Given the description of an element on the screen output the (x, y) to click on. 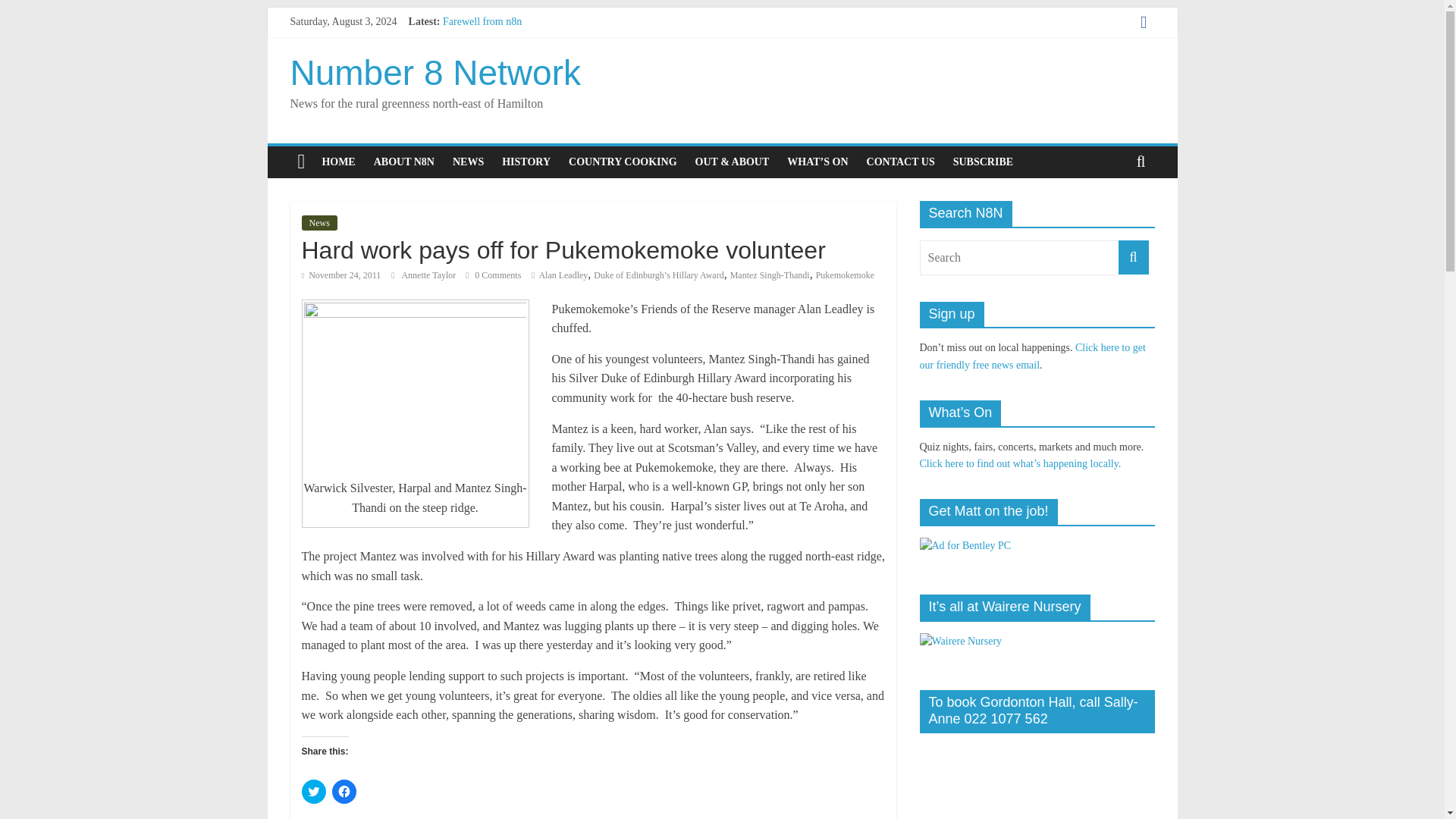
Alan Leadley (563, 275)
On password managers (491, 89)
Take me to the sign-up page (982, 162)
Annette Taylor (429, 275)
Mantez Singh-Thandi (769, 275)
HISTORY (526, 162)
N8N covering local events  (731, 162)
NEWS (468, 162)
Annette Taylor (429, 275)
On password managers (491, 89)
Farewell from n8n (481, 21)
Farewell from n8n (481, 21)
Introducing N8N (404, 162)
Email or phone us (900, 162)
